Given the description of an element on the screen output the (x, y) to click on. 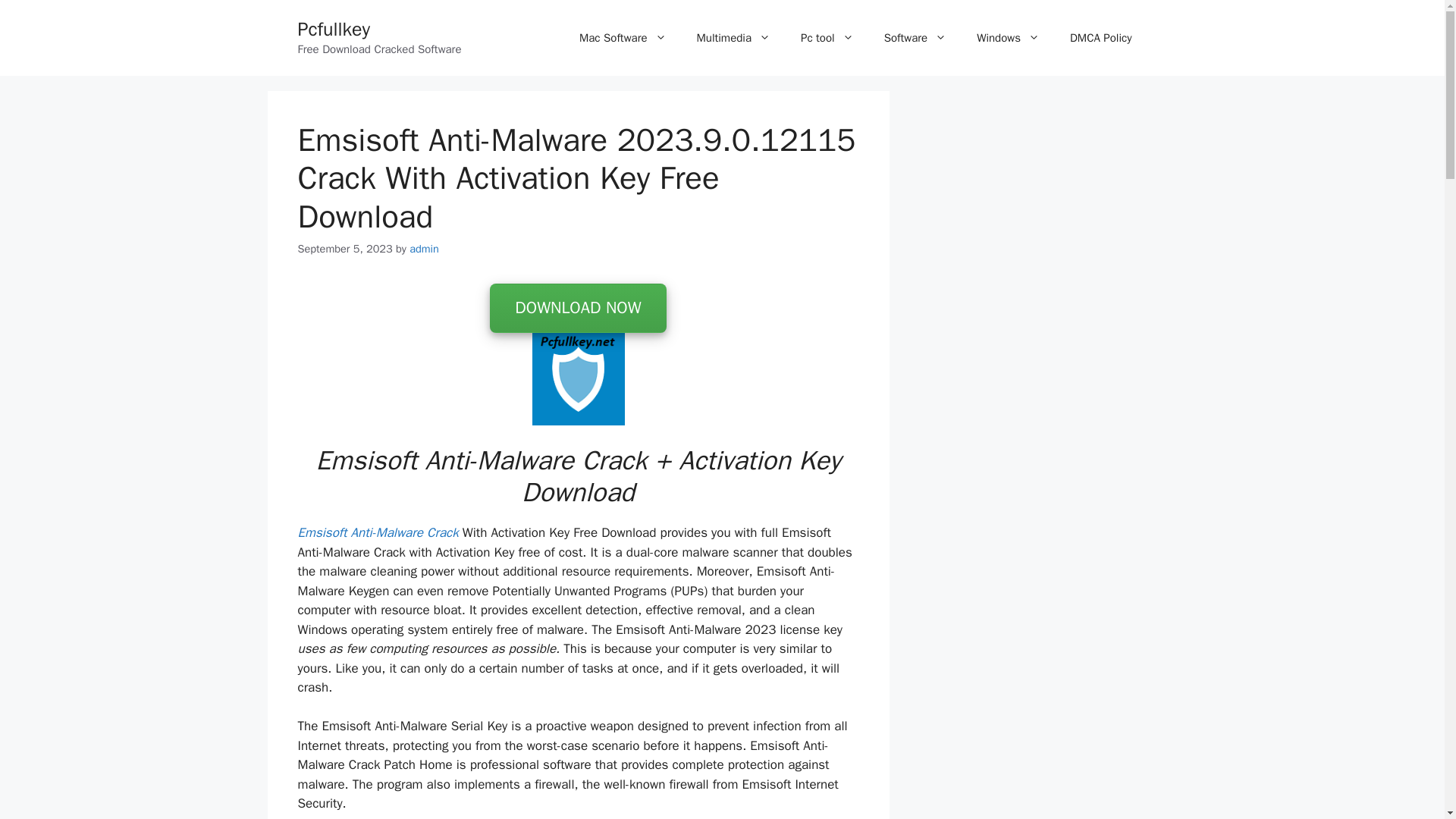
Pc tool (827, 37)
Multimedia (733, 37)
admin (424, 248)
Mac Software (622, 37)
Windows (1007, 37)
DOWNLOAD NOW (577, 308)
Pcfullkey (333, 28)
DMCA Policy (1100, 37)
DOWNLOAD NOW (577, 307)
Emsisoft Anti-Malware Crack (377, 532)
View all posts by admin (424, 248)
Software (915, 37)
